Given the description of an element on the screen output the (x, y) to click on. 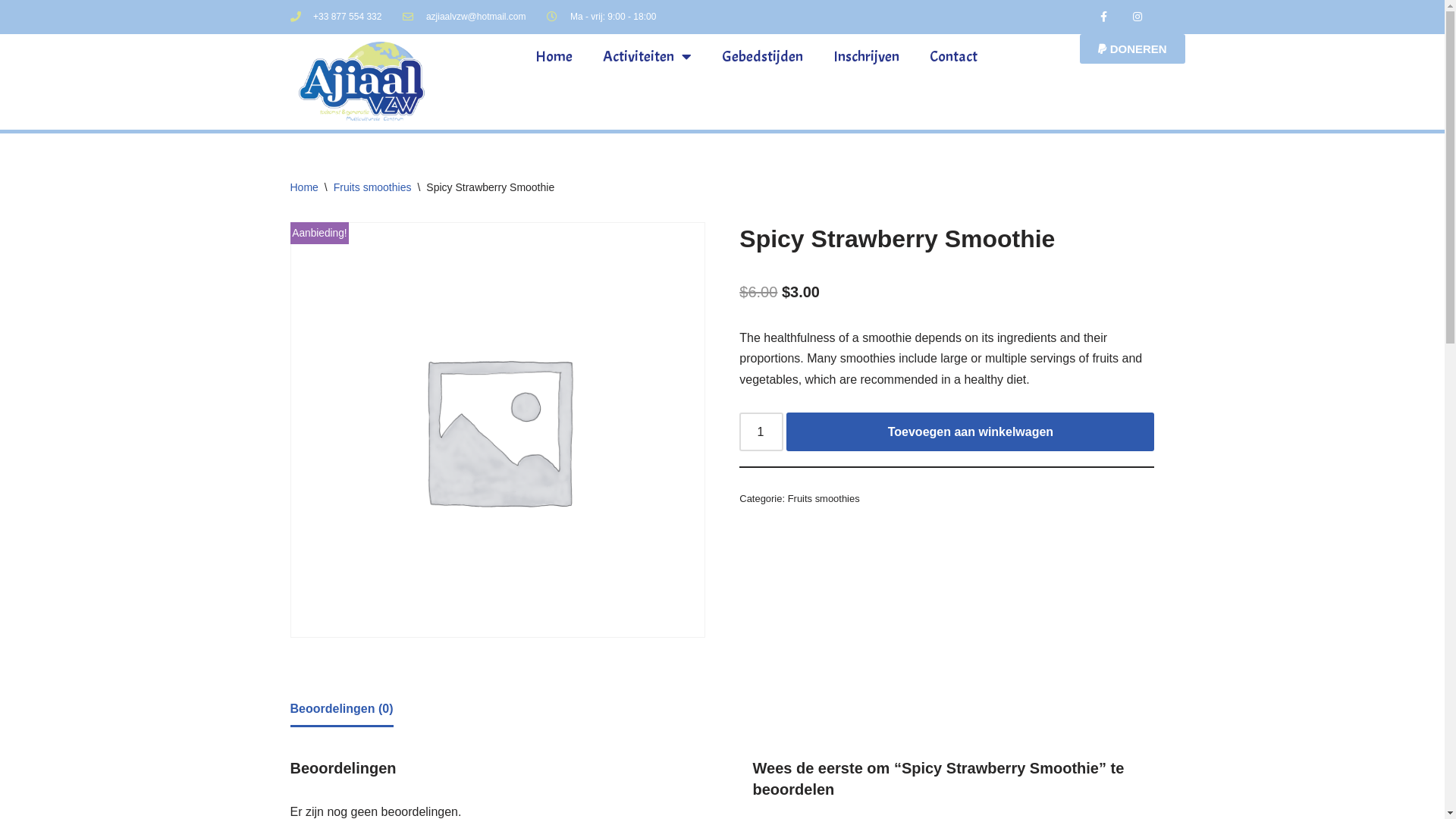
Toevoegen aan winkelwagen Element type: text (970, 431)
Home Element type: text (553, 56)
DONEREN Element type: text (1132, 48)
Home Element type: text (303, 187)
Fruits smoothies Element type: text (823, 498)
Gebedstijden Element type: text (762, 56)
Fruits smoothies Element type: text (372, 187)
Inschrijven Element type: text (866, 56)
Activiteiten Element type: text (646, 56)
Meteen naar de inhoud Element type: text (11, 31)
Contact Element type: text (953, 56)
Beoordelingen (0) Element type: text (340, 708)
